Given the description of an element on the screen output the (x, y) to click on. 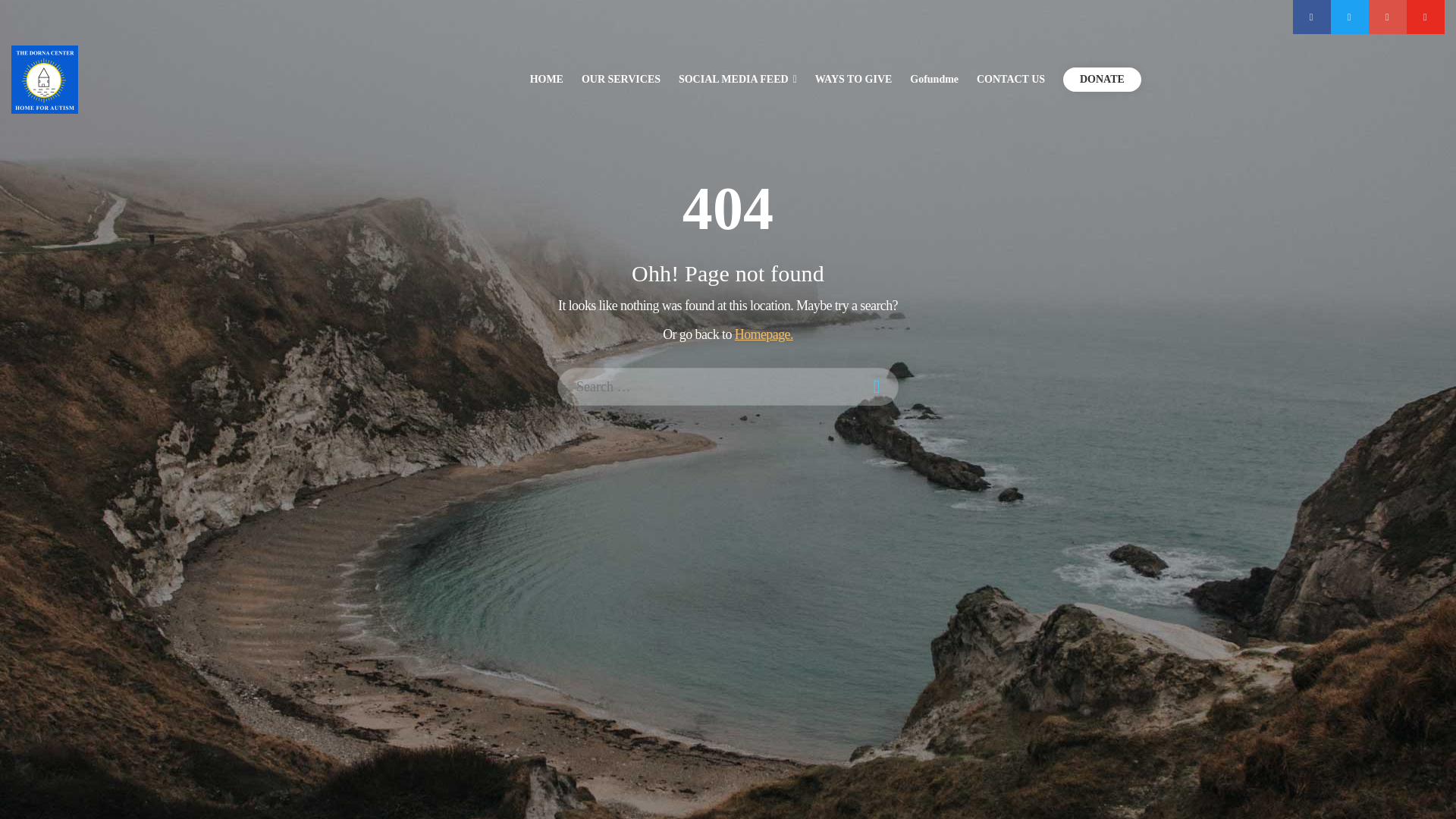
Search (22, 14)
OUR SERVICES (620, 79)
Gofundme (934, 79)
WAYS TO GIVE (853, 79)
HOME (546, 79)
Homepage. (764, 334)
CONTACT US (1010, 79)
SOCIAL MEDIA FEED (737, 79)
DONATE (1101, 79)
